Given the description of an element on the screen output the (x, y) to click on. 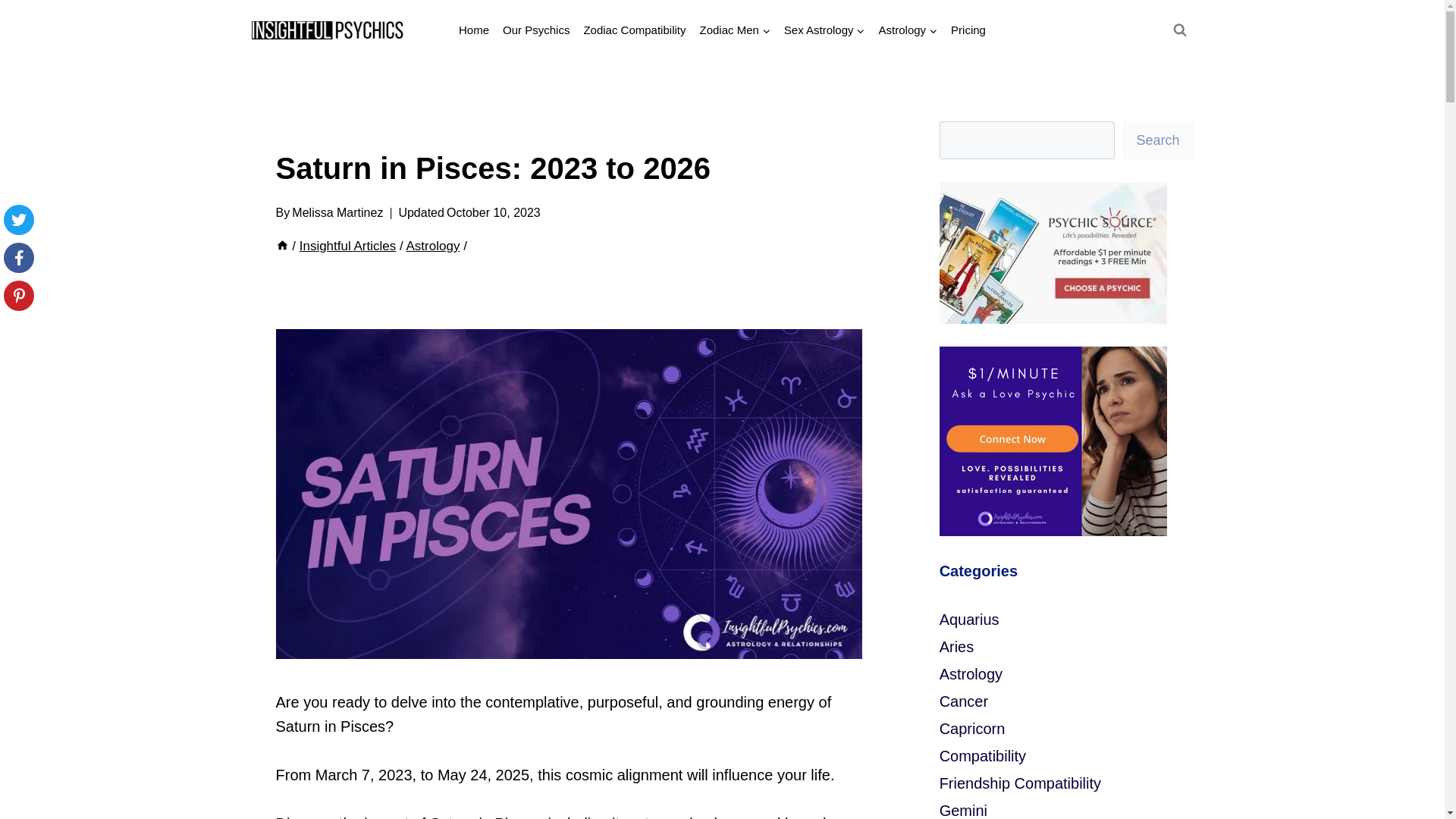
Astrology (908, 29)
Home (473, 29)
Zodiac Men (734, 29)
Sex Astrology (824, 29)
Home (282, 246)
Zodiac Compatibility (634, 29)
Our Psychics (536, 29)
